Given the description of an element on the screen output the (x, y) to click on. 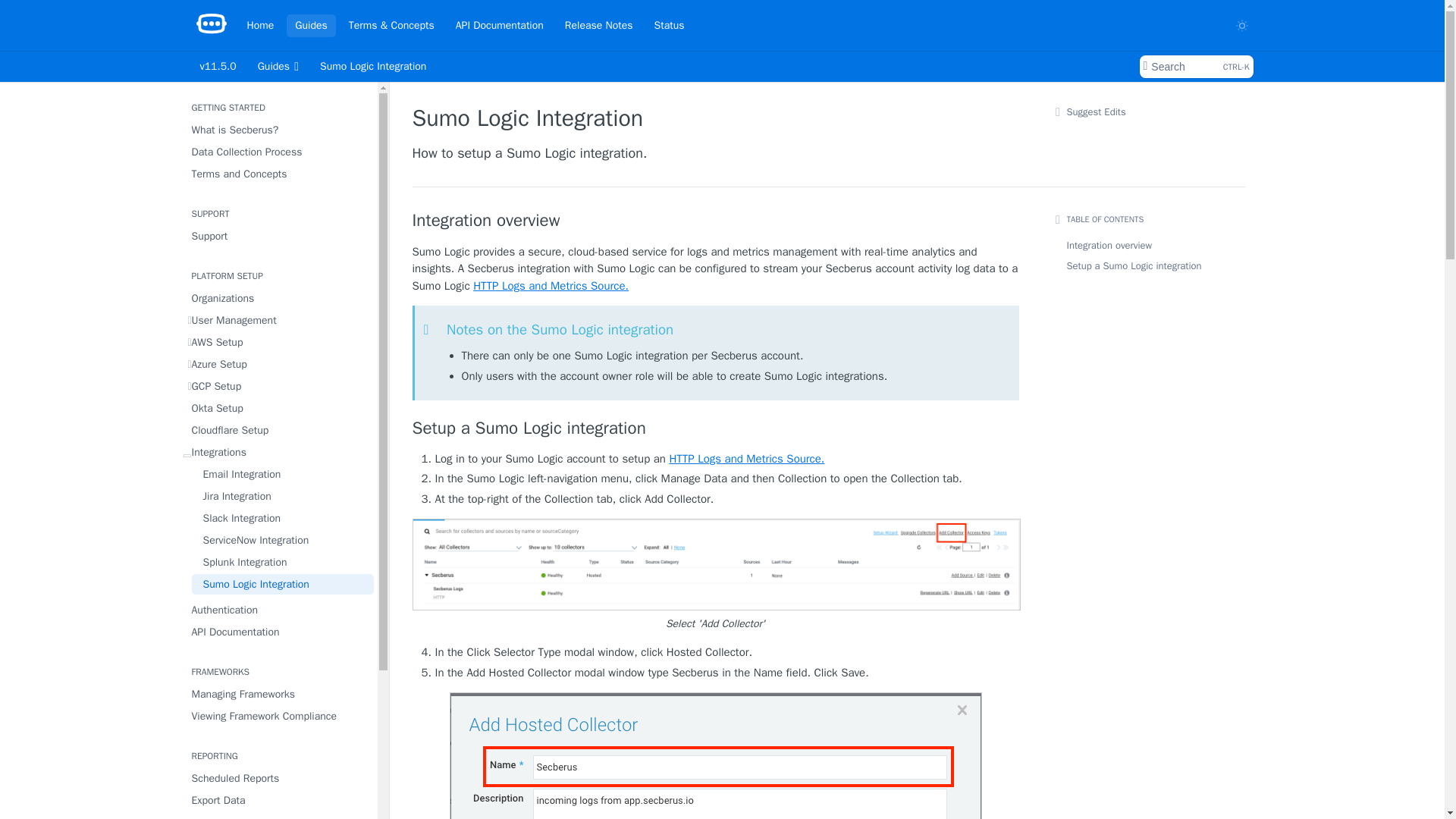
Data Collection Process (277, 151)
Organizations (277, 298)
Guides (277, 66)
Release Notes (599, 24)
Terms and Concepts (277, 173)
Status (669, 24)
Azure Setup (277, 363)
What is Secberus? (277, 129)
Support (1195, 66)
Guides (277, 236)
API Documentation (311, 24)
Integration overview (498, 24)
Setup a Sumo Logic integration (715, 219)
hosted collector.png (715, 427)
